Given the description of an element on the screen output the (x, y) to click on. 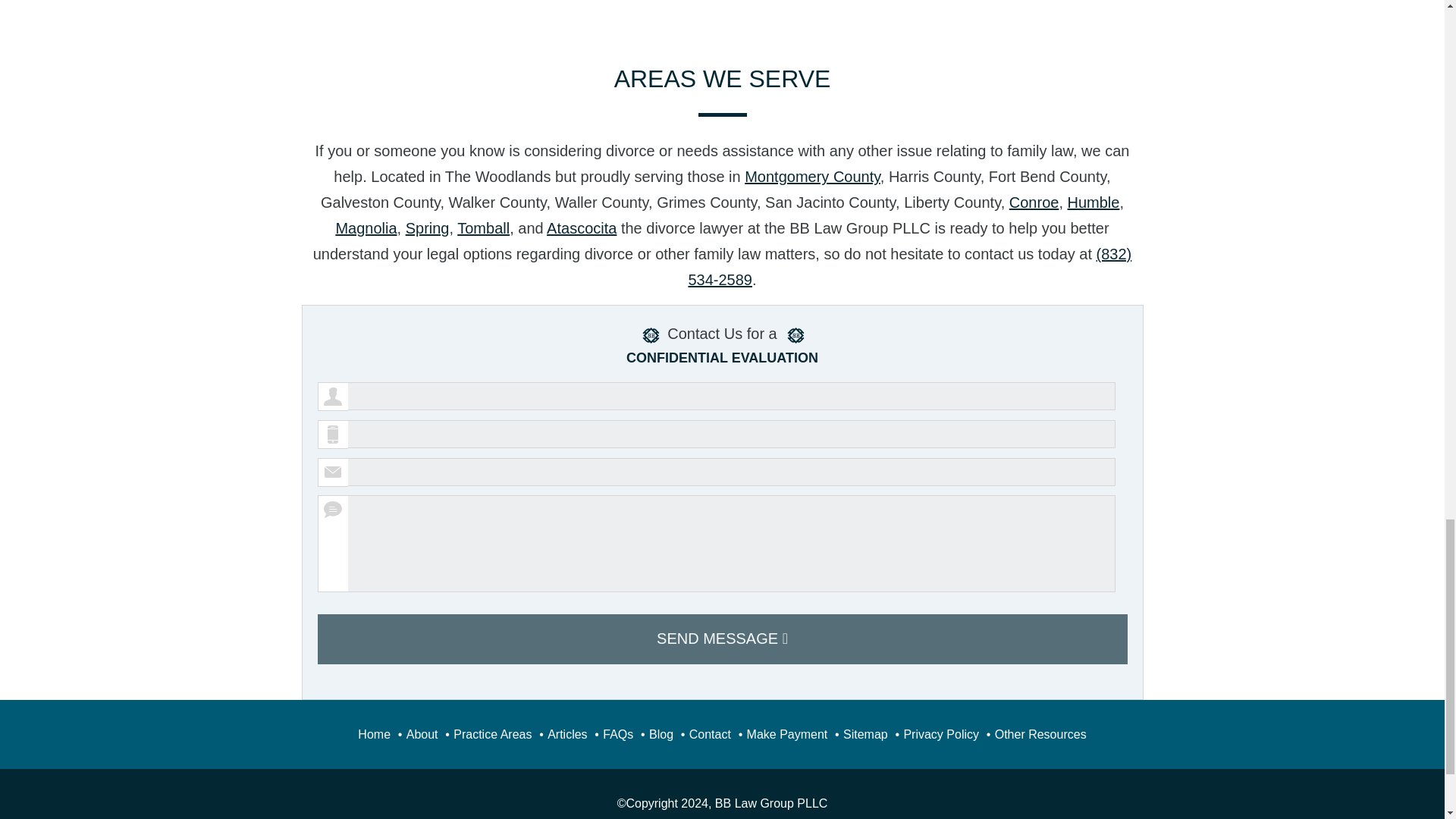
Contact (709, 734)
Privacy Policy (940, 734)
FAQs (617, 734)
Make Payment (787, 734)
Spring (427, 228)
Tomball (483, 228)
Home (374, 734)
Practice Areas (491, 734)
Other Resources (1040, 734)
Humble (1093, 202)
Conroe (1034, 202)
Atascocita (581, 228)
Montgomery County (812, 176)
Magnolia (365, 228)
Articles (566, 734)
